Given the description of an element on the screen output the (x, y) to click on. 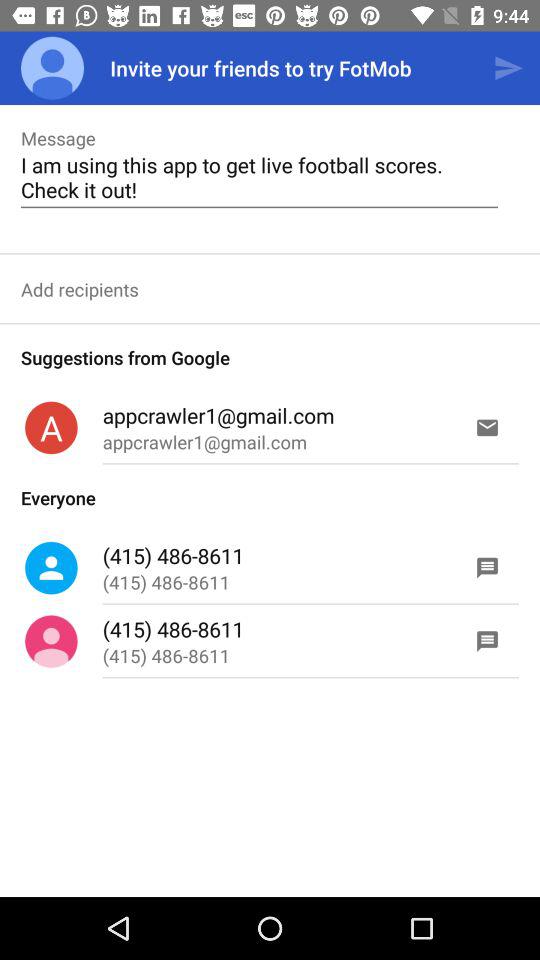
tap the i am using item (259, 177)
